Given the description of an element on the screen output the (x, y) to click on. 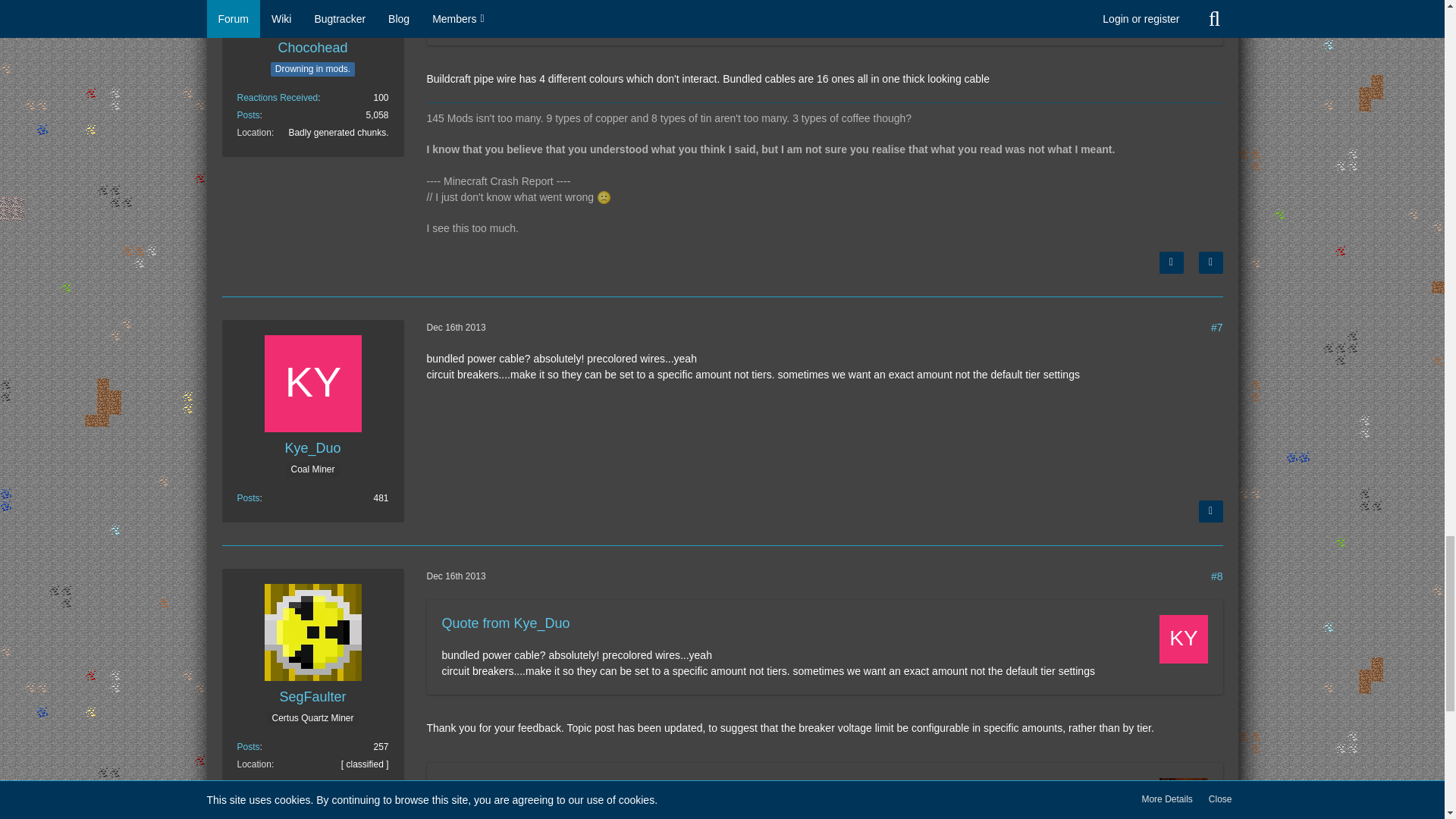
sad (603, 196)
